Given the description of an element on the screen output the (x, y) to click on. 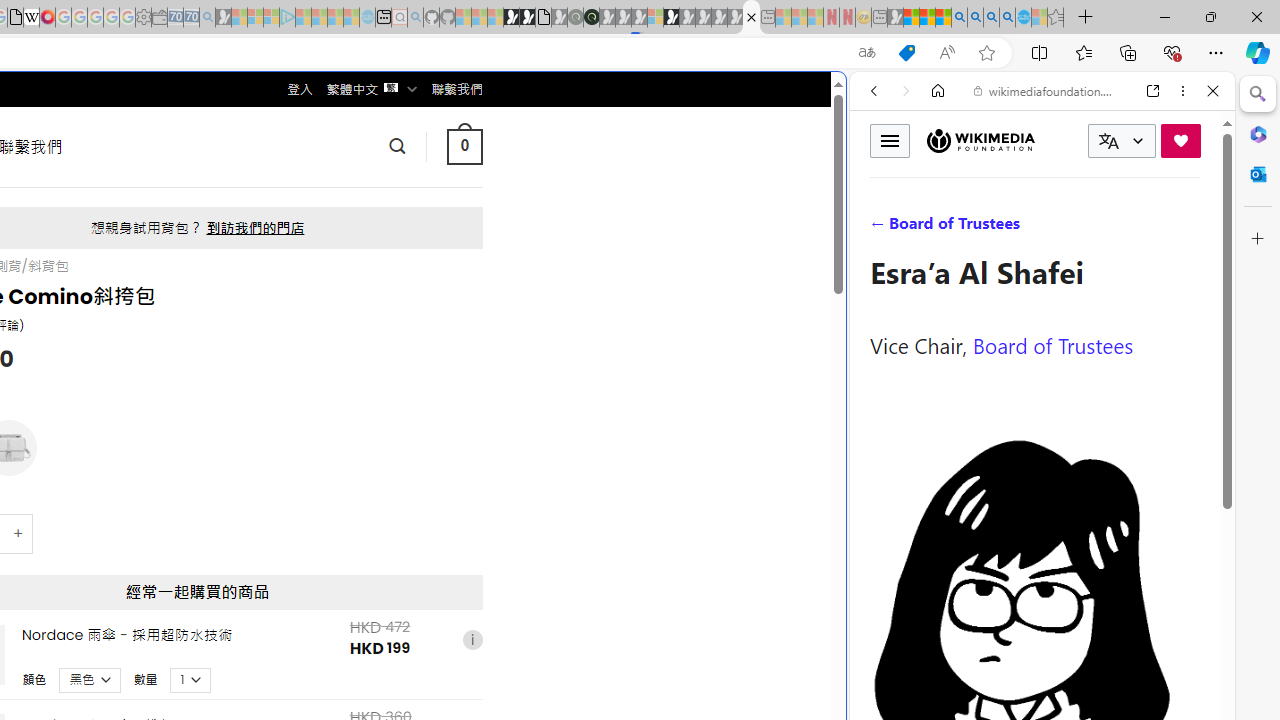
Wallet - Sleeping (159, 17)
Home | Sky Blue Bikes - Sky Blue Bikes (687, 426)
Class: upsell-v2-product-upsell-variable-product-qty-select (191, 679)
Sign in to your account - Sleeping (655, 17)
Microsoft Start - Sleeping (335, 17)
